Given the description of an element on the screen output the (x, y) to click on. 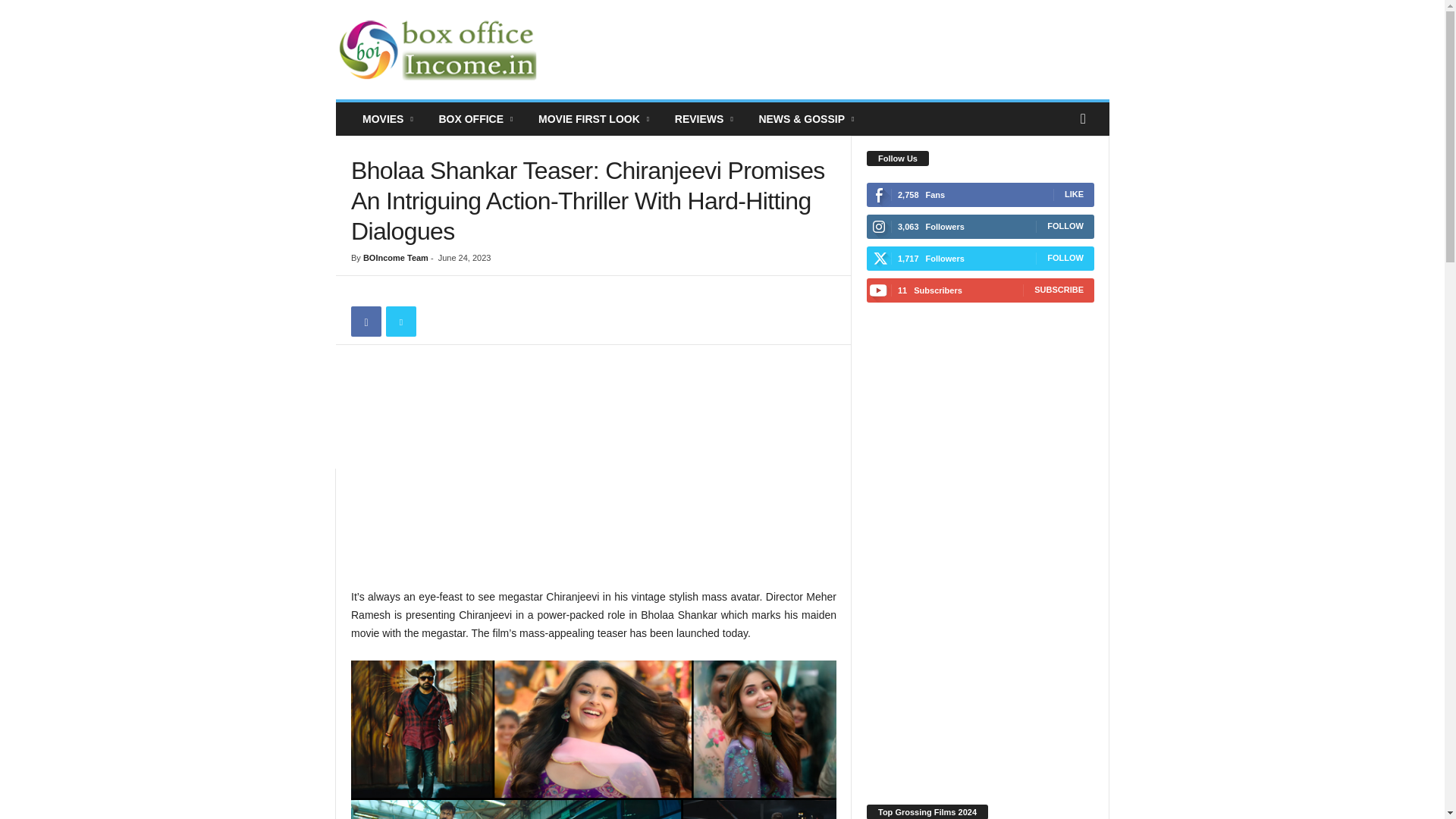
Twitter (400, 321)
Advertisement (833, 49)
REVIEWS (705, 118)
MOVIE FIRST LOOK (595, 118)
Advertisement (592, 473)
MOVIES (388, 118)
topFacebookLike (390, 291)
BOX OFFICE (476, 118)
Facebook (365, 321)
